Given the description of an element on the screen output the (x, y) to click on. 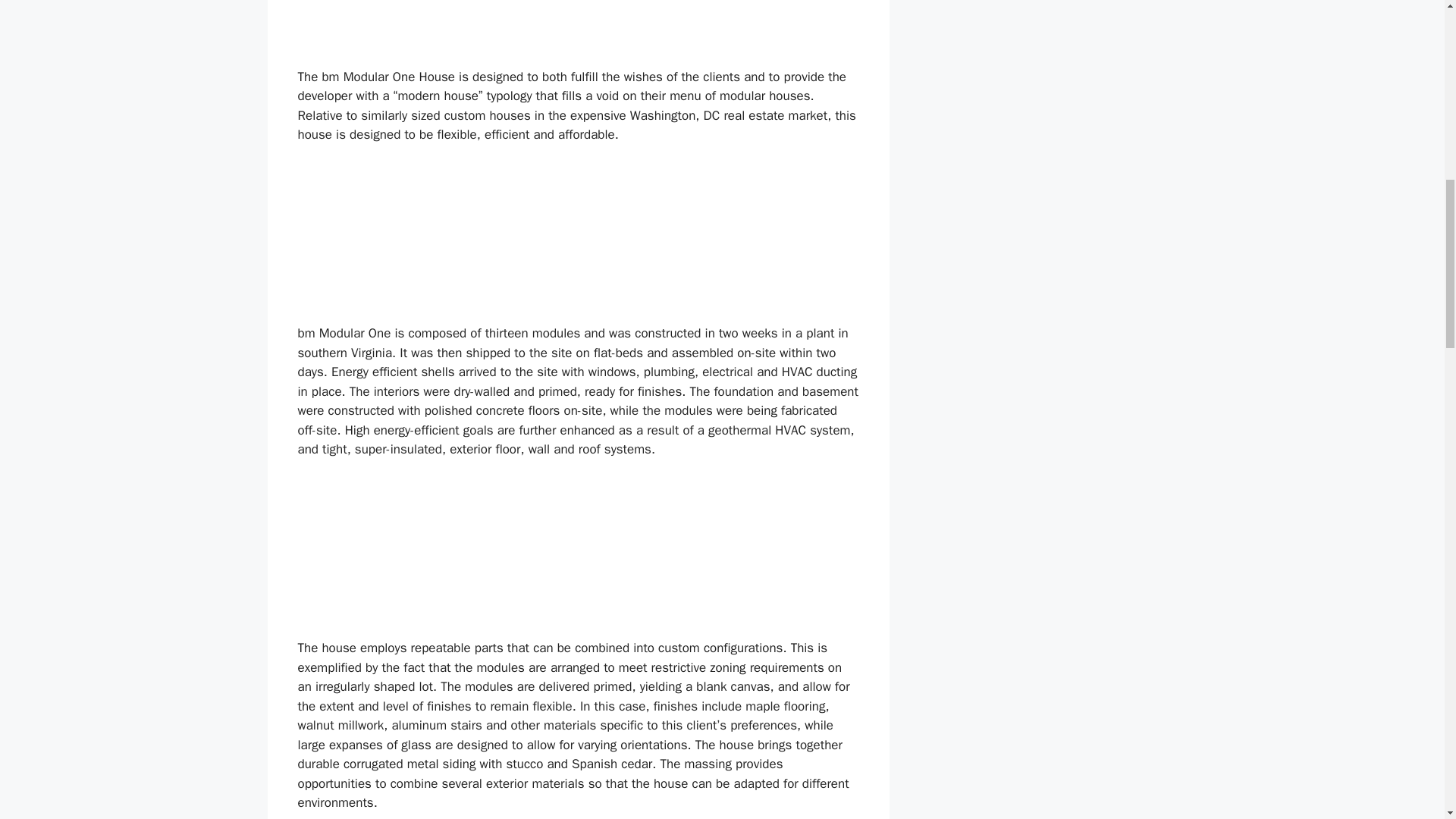
Scroll back to top (1406, 720)
